Given the description of an element on the screen output the (x, y) to click on. 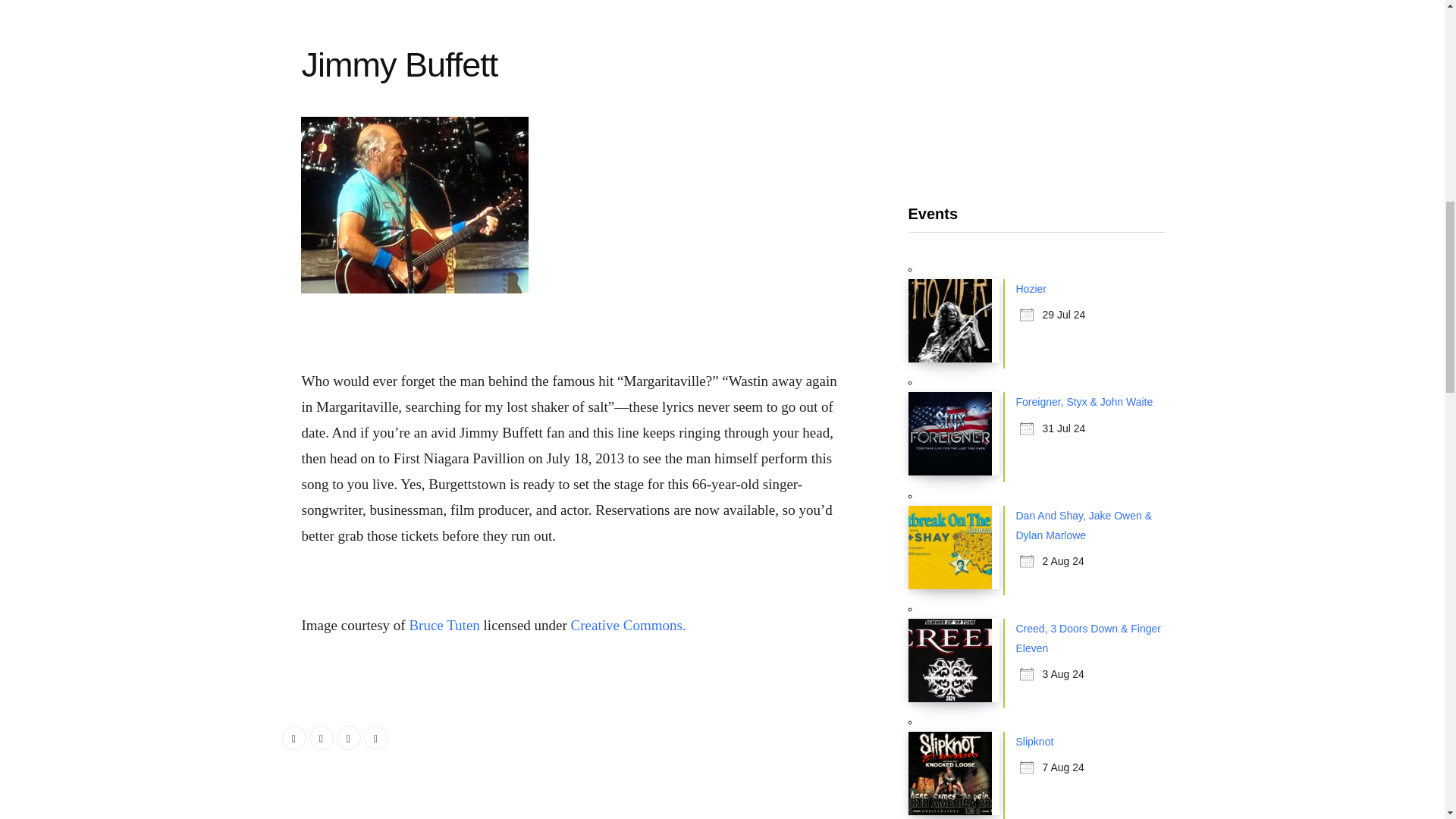
Hozier (1031, 288)
Creative Commons. (627, 625)
Slipknot (1035, 741)
Bruce Tuten (444, 625)
Facebook (293, 737)
Twitter (320, 737)
Pinterest (376, 737)
LinkedIn (348, 737)
Advertisement (1037, 82)
